Given the description of an element on the screen output the (x, y) to click on. 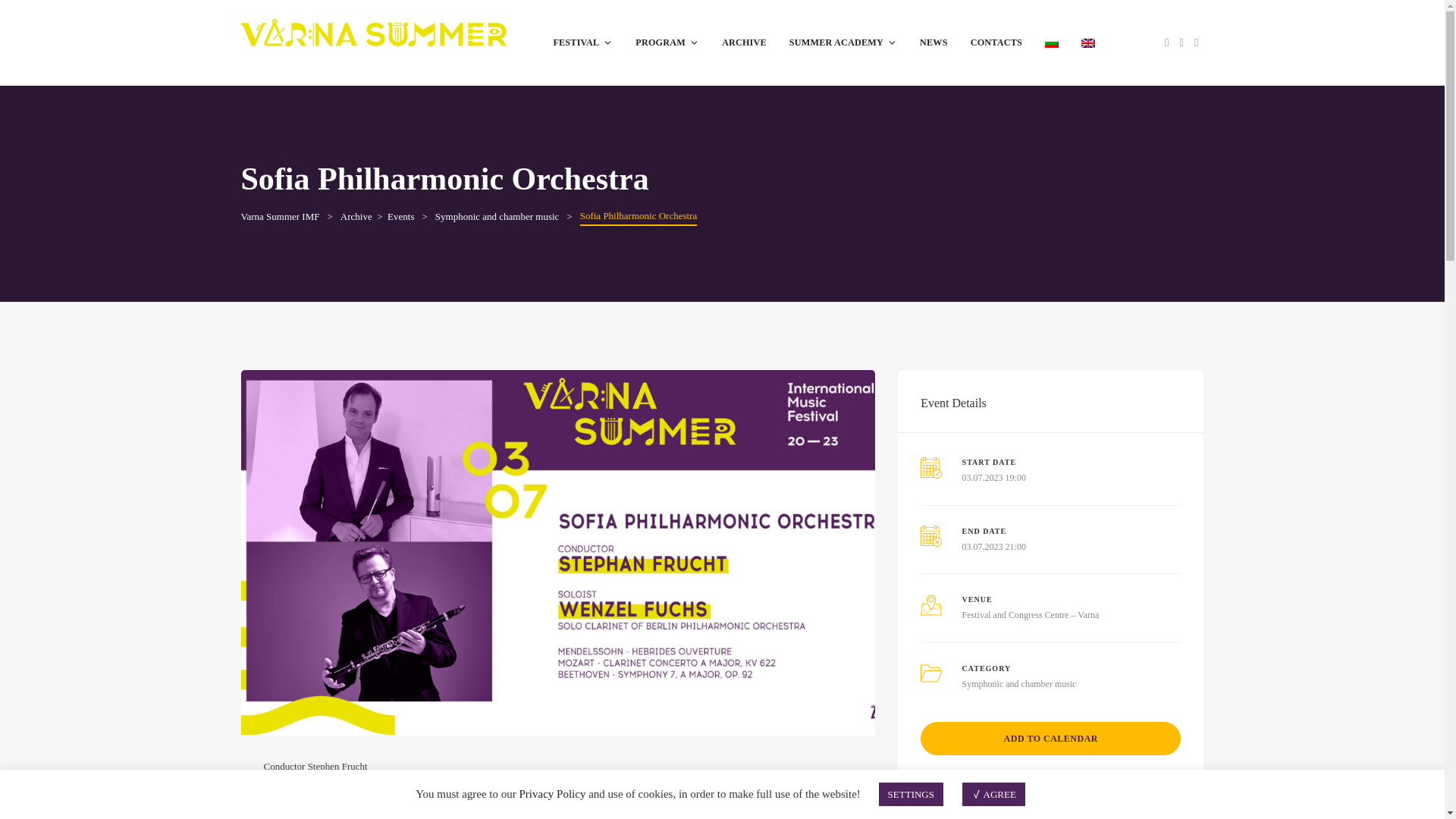
Symphonic and chamber music (497, 215)
FESTIVAL (582, 42)
Varna Summer IMF (280, 215)
Events (400, 215)
